Given the description of an element on the screen output the (x, y) to click on. 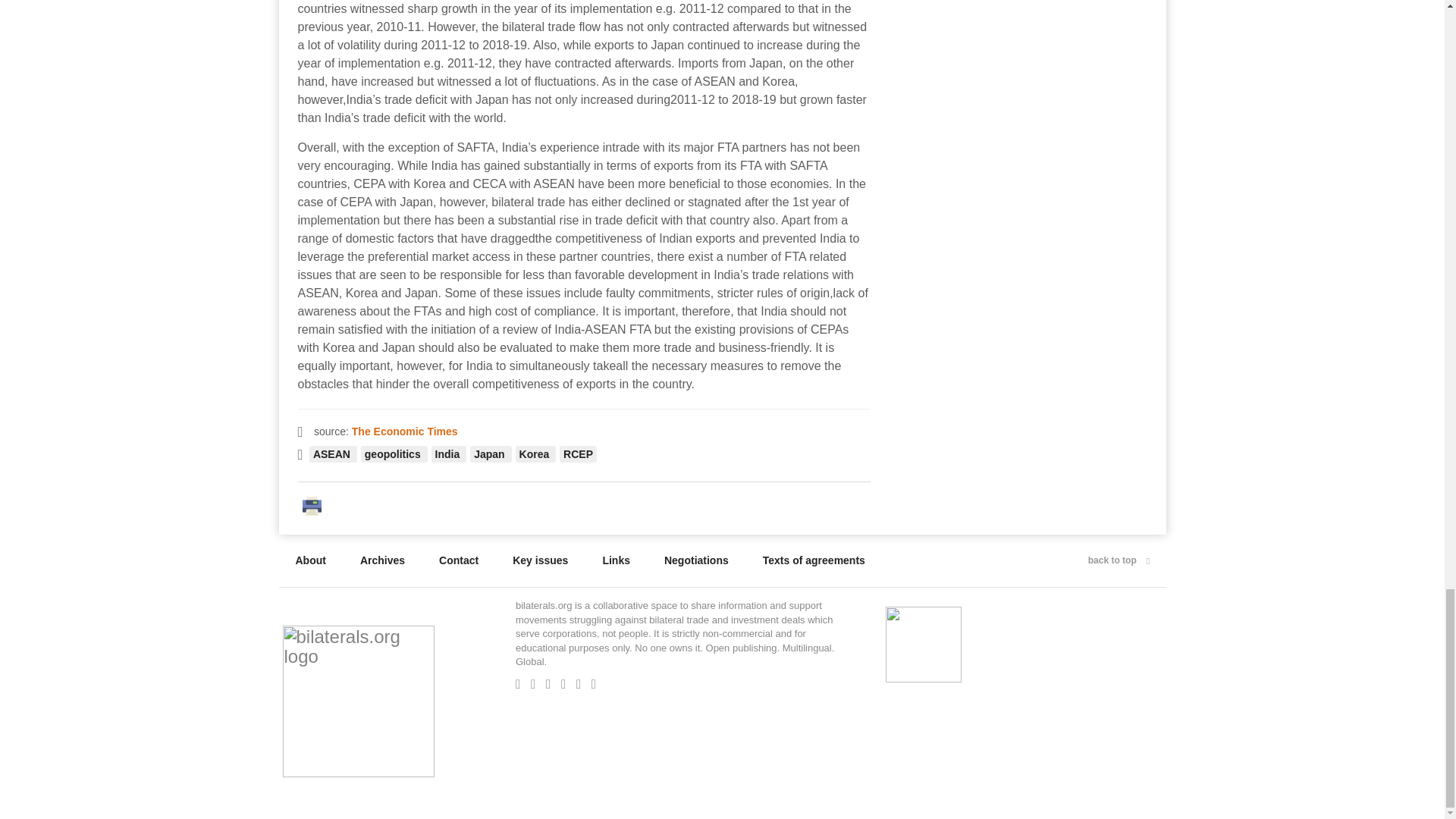
Archives (382, 560)
About (310, 560)
Texts of agreements (813, 560)
YouTube (582, 683)
Negotiations (696, 560)
back to top (1118, 560)
print (315, 504)
Key issues (540, 560)
Contact (458, 560)
Links (615, 560)
